Given the description of an element on the screen output the (x, y) to click on. 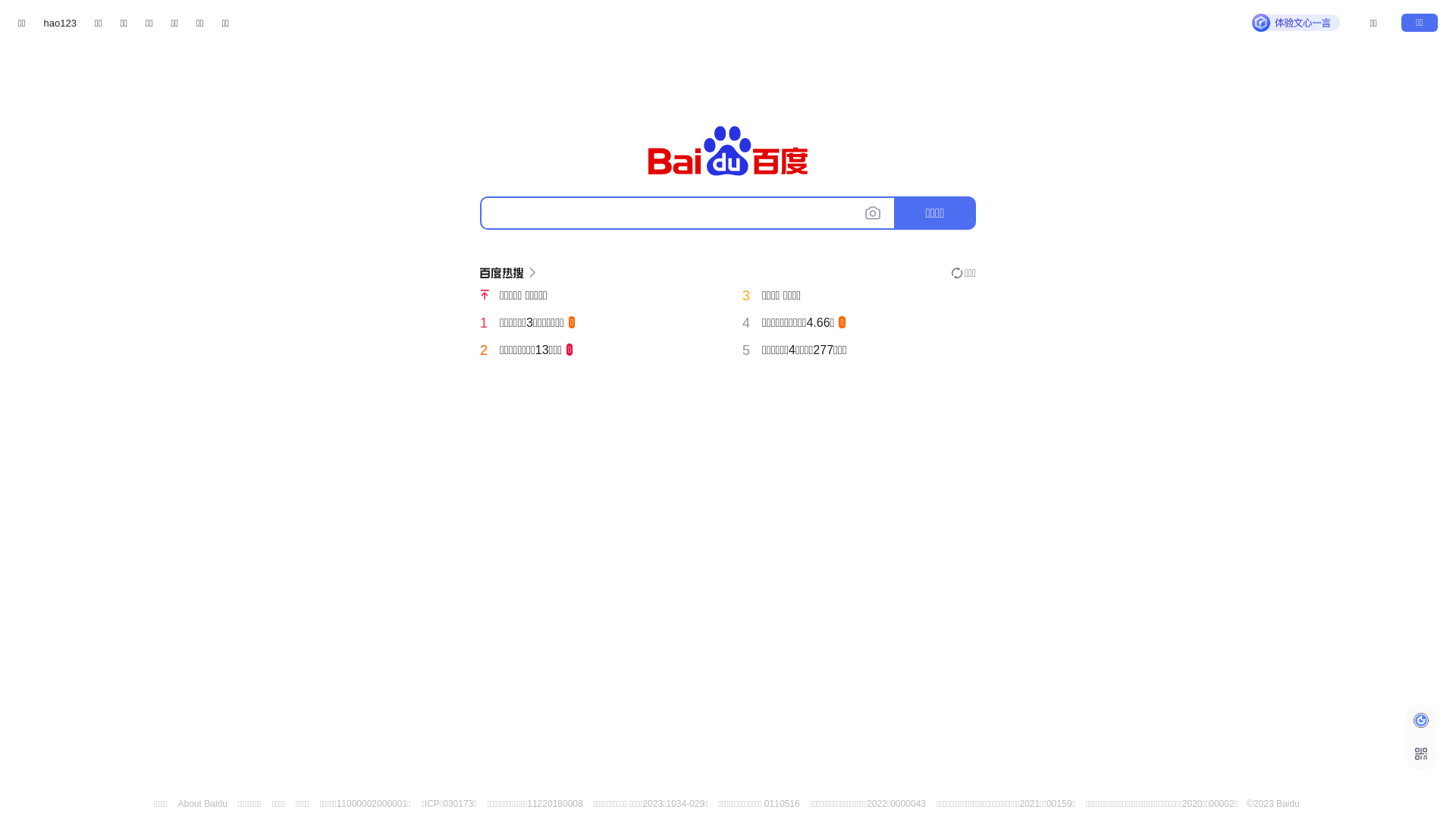
About Baidu Element type: text (202, 803)
hao123 Element type: text (59, 22)
